Given the description of an element on the screen output the (x, y) to click on. 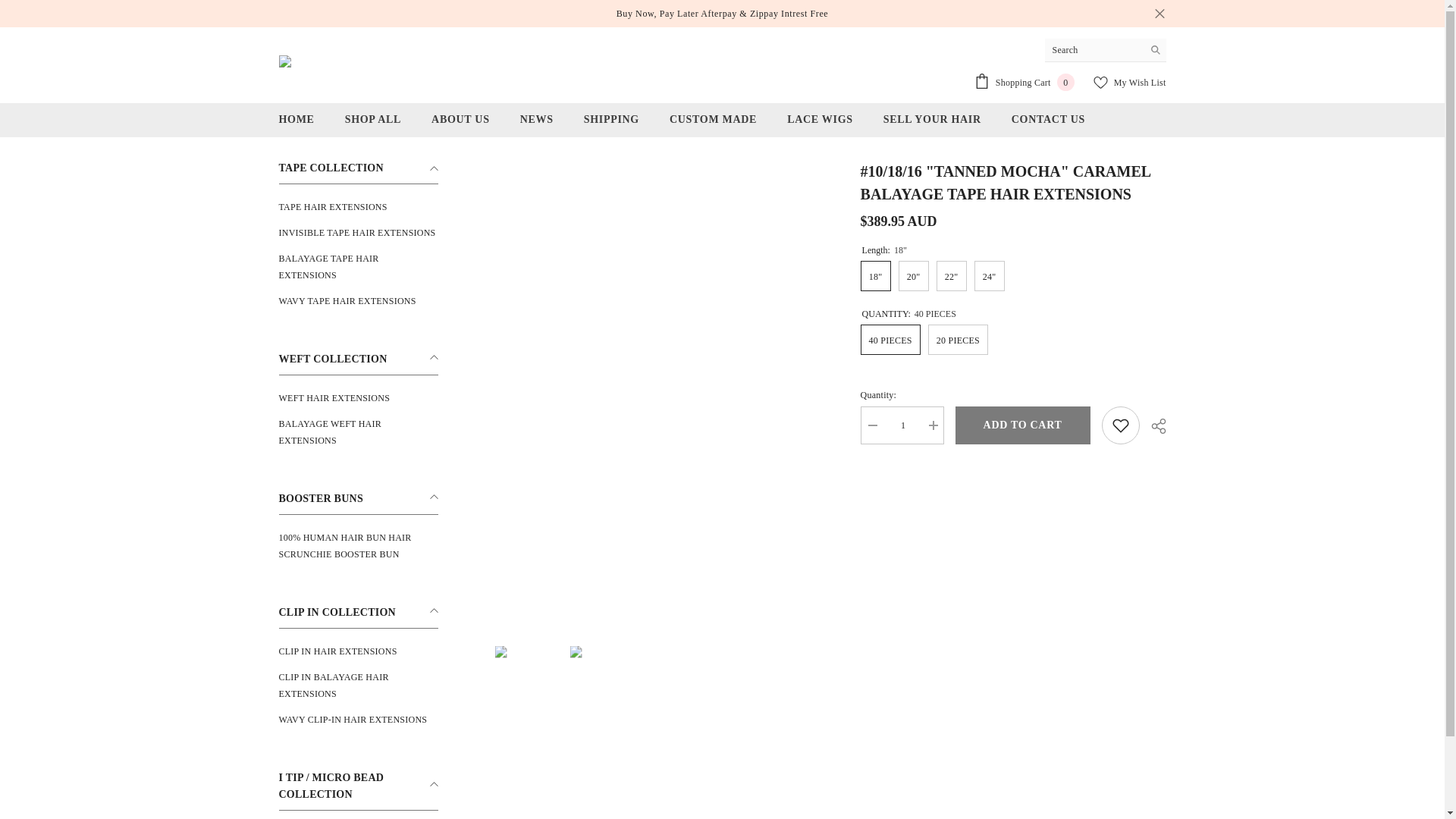
My Wish List (1129, 82)
HOME (296, 124)
SHOP ALL (373, 124)
Close (1159, 13)
1 (901, 425)
